Given the description of an element on the screen output the (x, y) to click on. 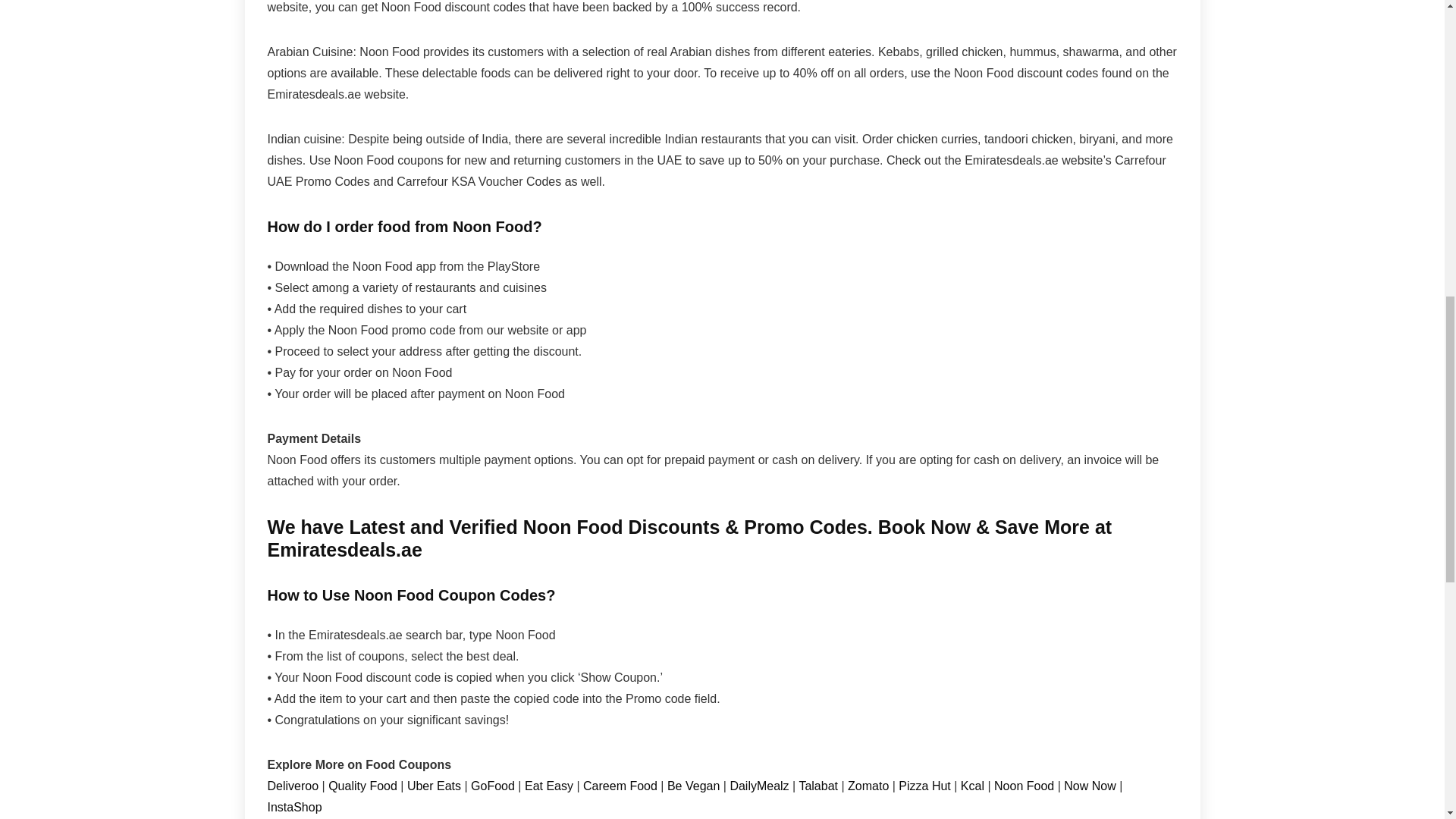
GoFood (494, 785)
Pizza Hut (924, 785)
Quality Food (363, 785)
Noon Food (1024, 785)
Now Now (1089, 785)
Zomato (869, 785)
Kcal (974, 785)
DailyMealz (760, 785)
Careem Food (620, 785)
Uber Eats (434, 785)
